Given the description of an element on the screen output the (x, y) to click on. 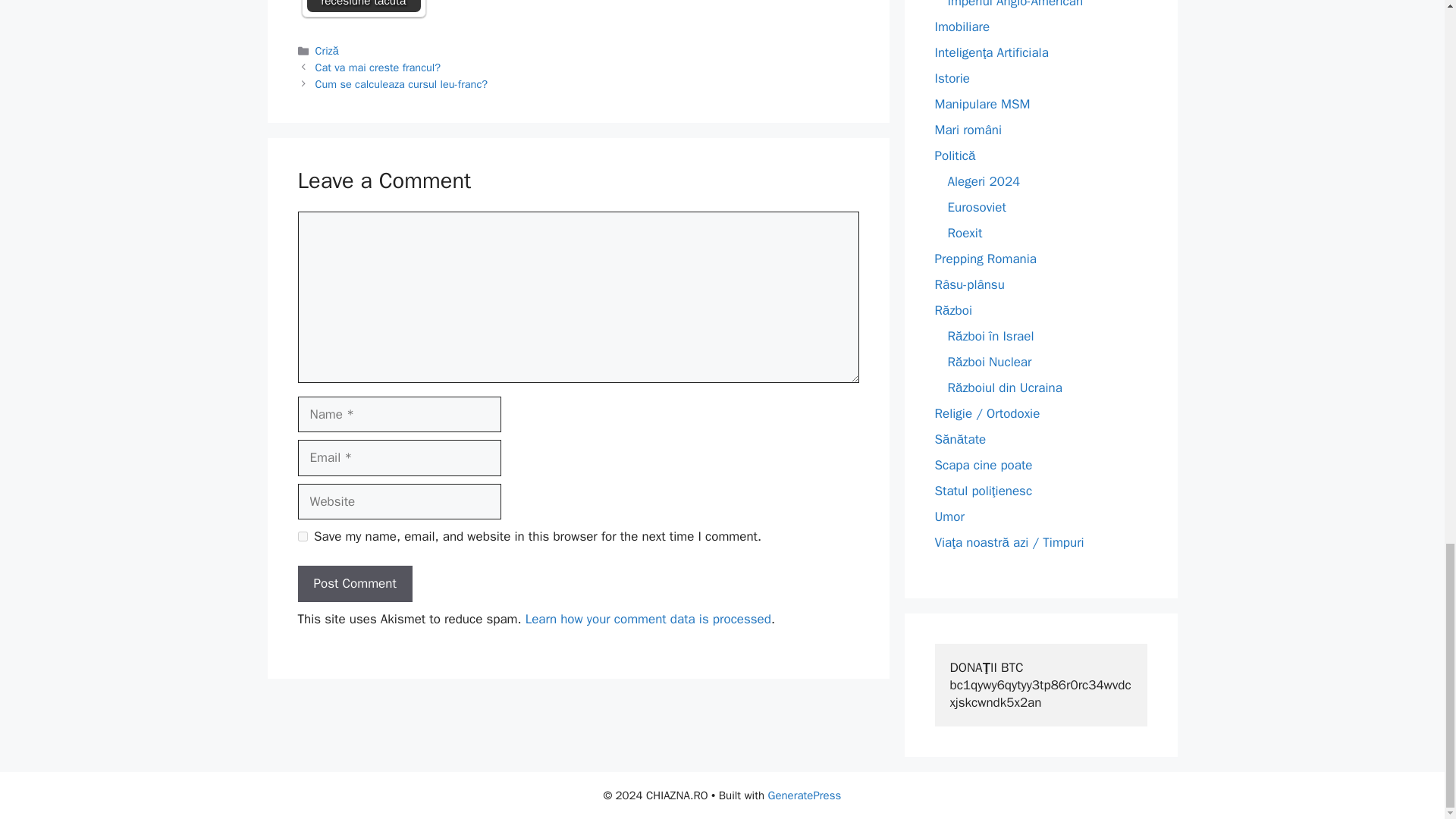
Learn how your comment data is processed (648, 618)
Cum se calculeaza cursul leu-franc? (401, 83)
Cat va mai creste francul? (378, 67)
Post Comment (354, 583)
Post Comment (354, 583)
yes (302, 536)
